Given the description of an element on the screen output the (x, y) to click on. 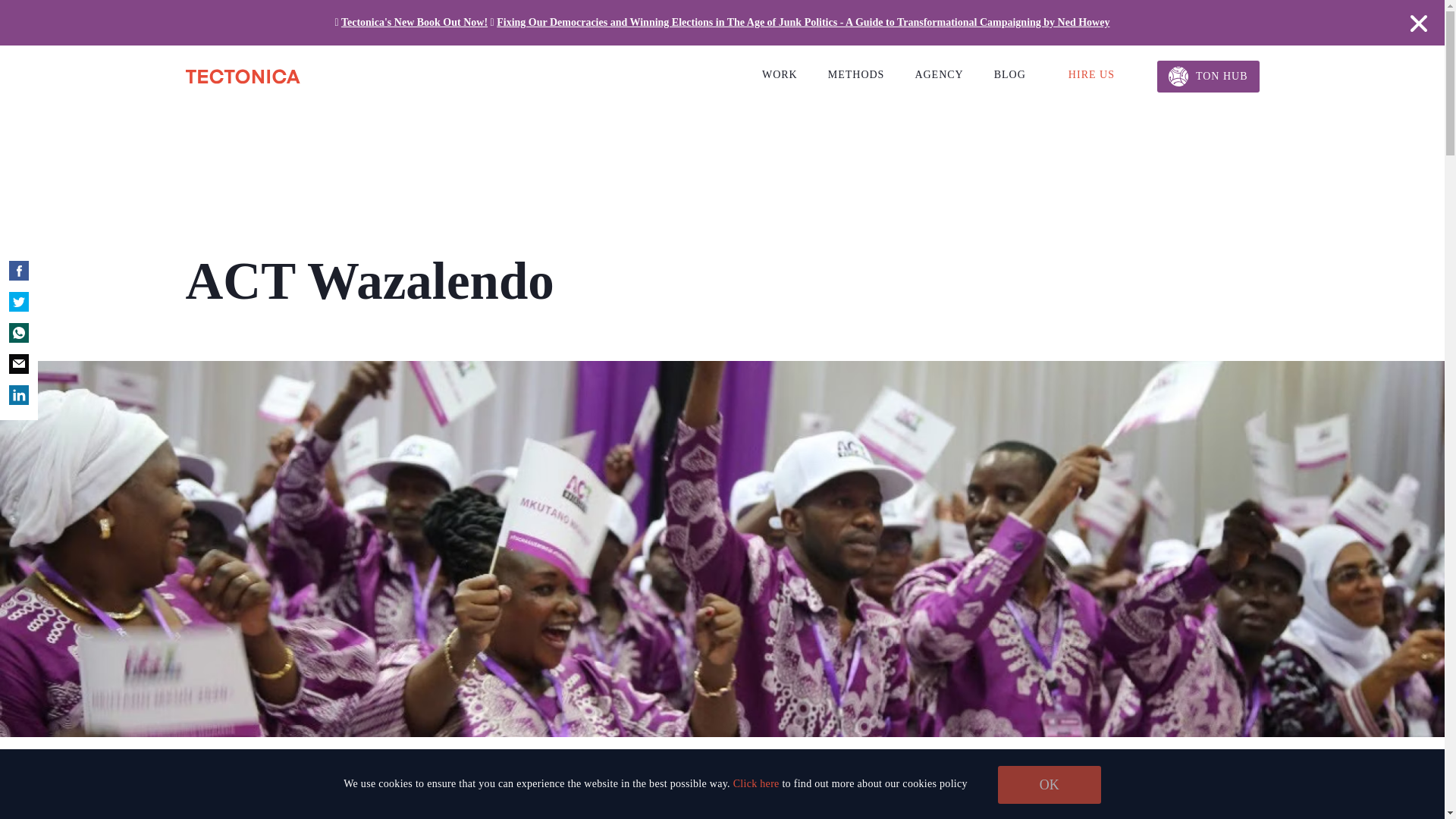
WORK (779, 74)
Tectonica's New Book Out Now! (413, 21)
BLOG (1010, 74)
METHODS (856, 74)
TON HUB (1208, 76)
HIRE US (1091, 74)
AGENCY (938, 74)
